Given the description of an element on the screen output the (x, y) to click on. 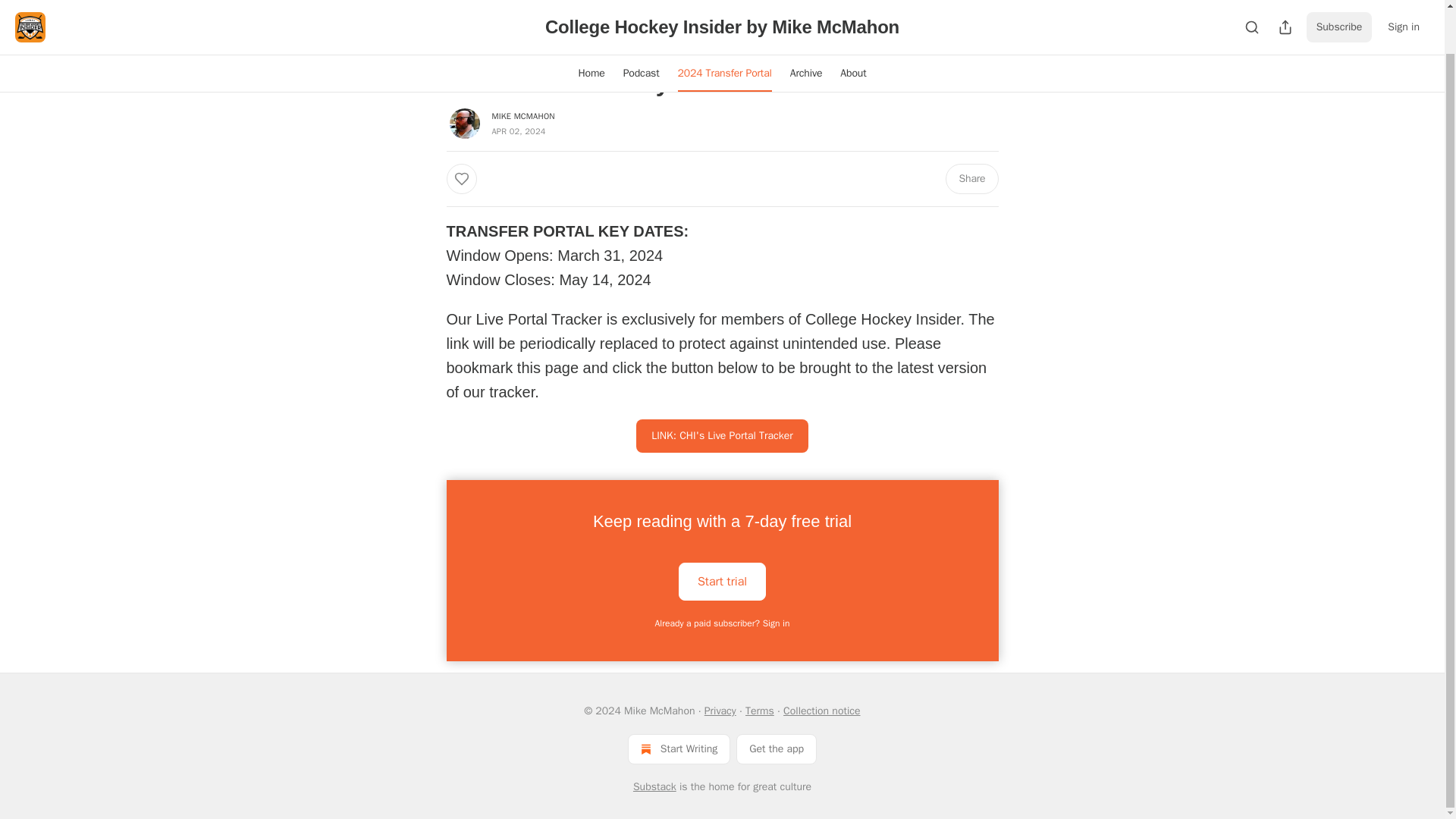
2024 Transfer Portal (724, 27)
Collection notice (821, 710)
MIKE MCMAHON (523, 115)
About (853, 27)
Already a paid subscriber? Sign in (722, 623)
Get the app (776, 748)
Share (970, 178)
Substack (655, 786)
Start trial (721, 579)
Archive (805, 27)
